Given the description of an element on the screen output the (x, y) to click on. 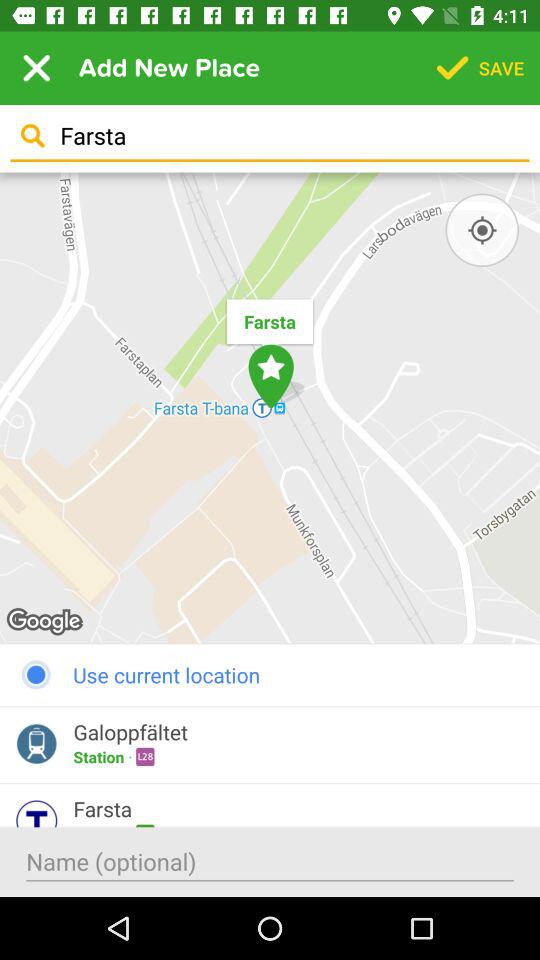
jump until the use current location item (270, 674)
